Given the description of an element on the screen output the (x, y) to click on. 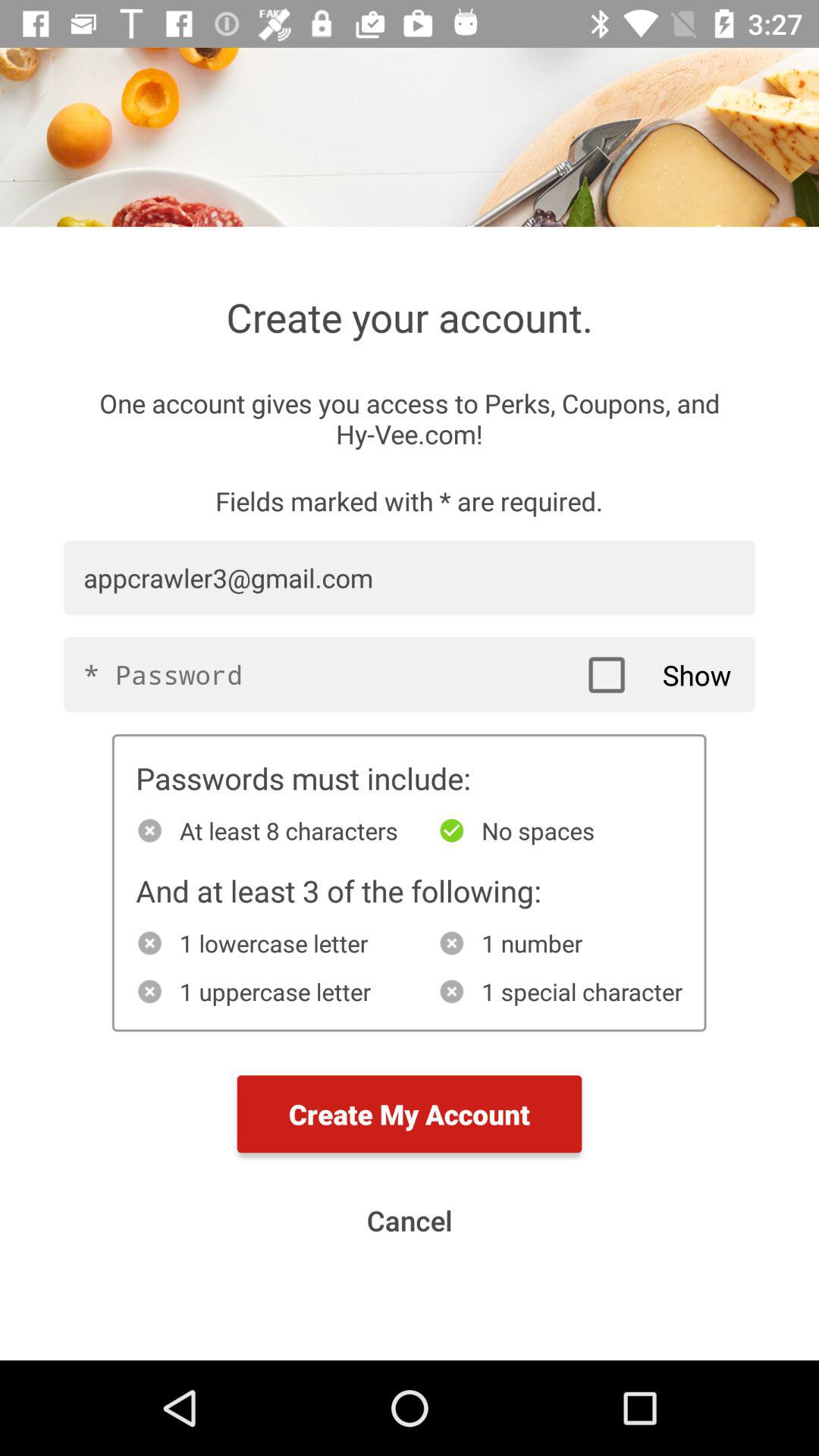
enter your password (409, 674)
